Given the description of an element on the screen output the (x, y) to click on. 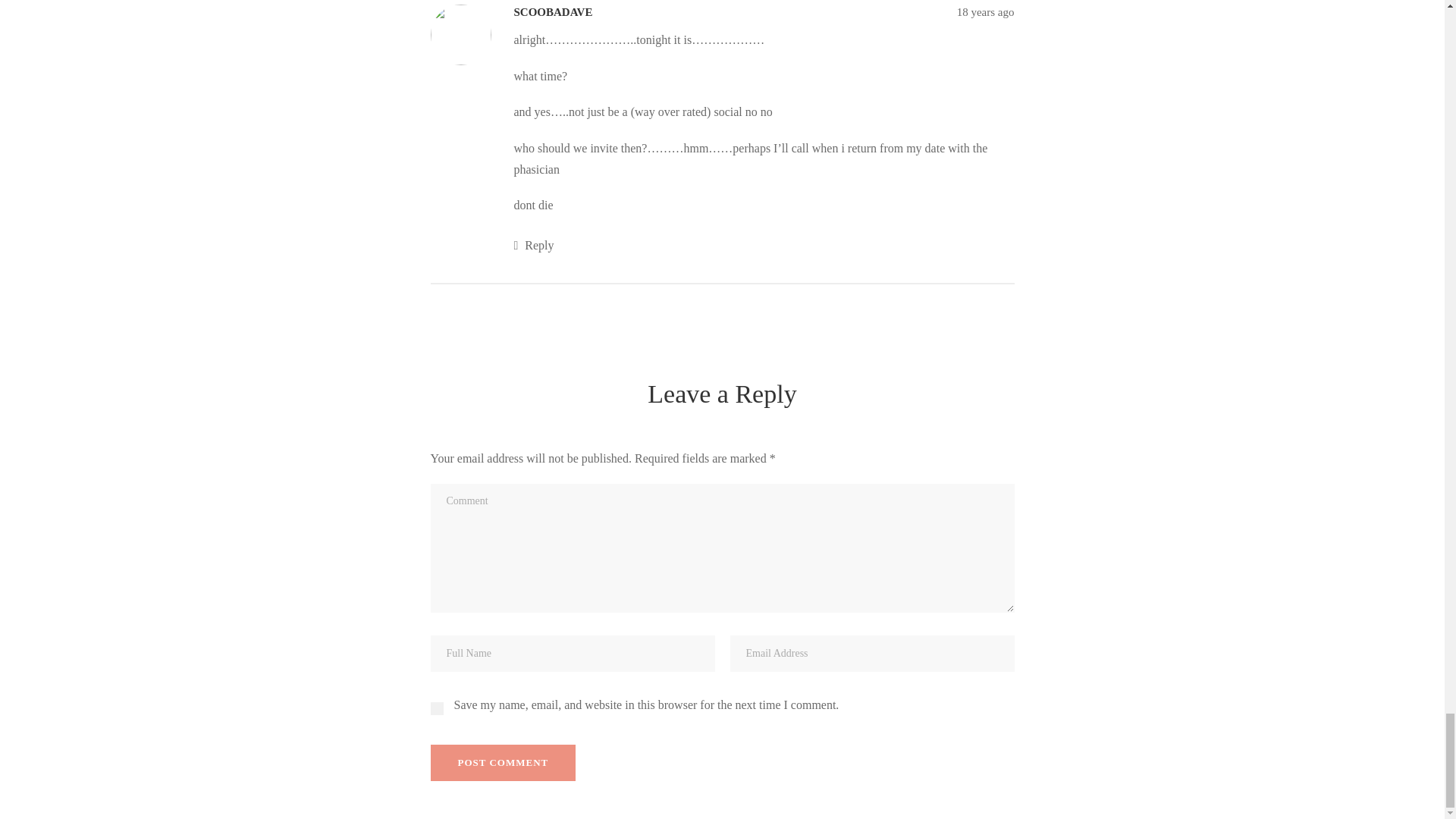
yes (437, 707)
Post Comment (503, 762)
